Given the description of an element on the screen output the (x, y) to click on. 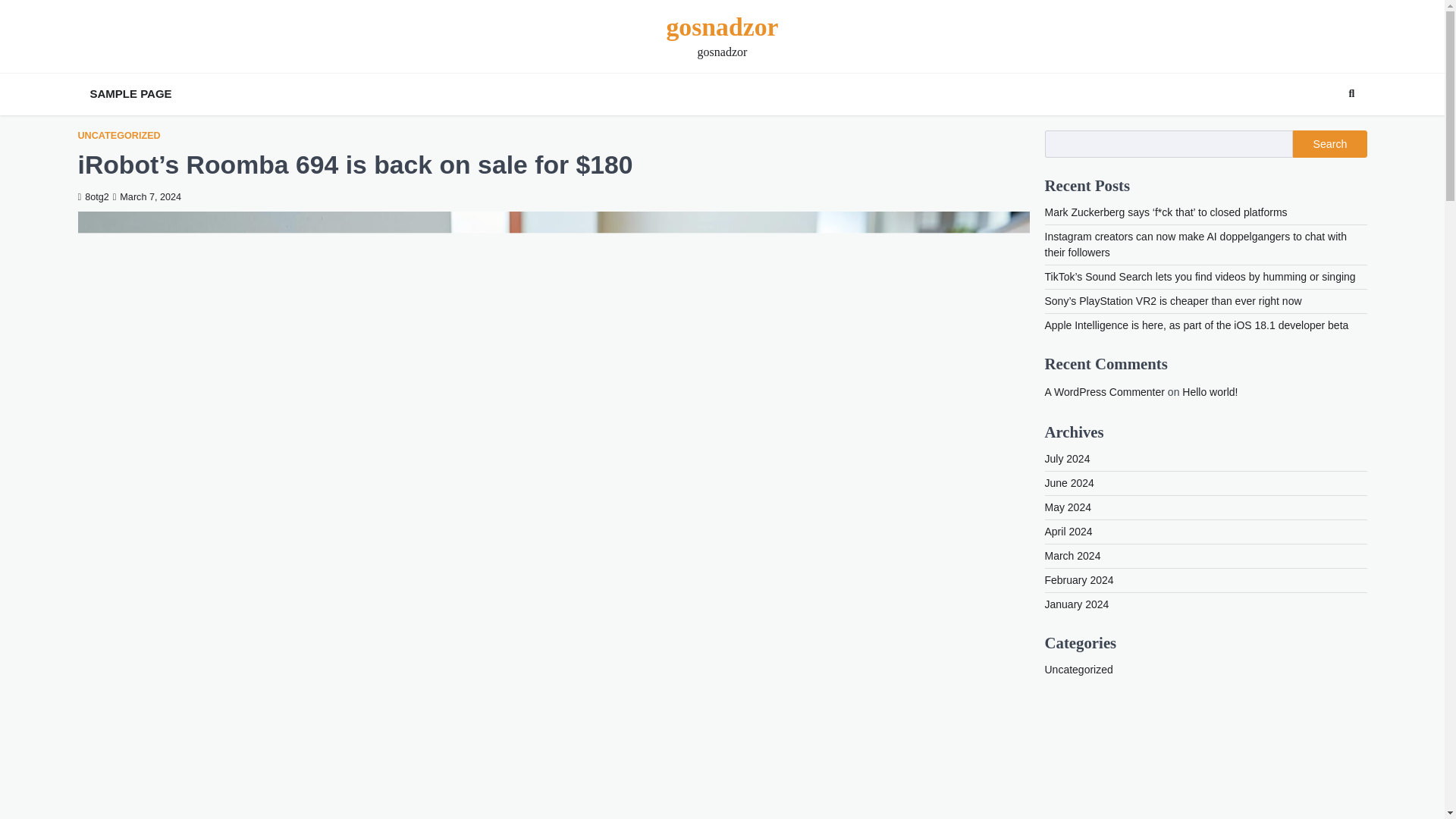
A WordPress Commenter (1104, 391)
Search (1323, 129)
March 7, 2024 (146, 196)
June 2024 (1069, 482)
Search (1351, 93)
gosnadzor (721, 26)
SAMPLE PAGE (129, 94)
July 2024 (1067, 458)
8otg2 (92, 196)
May 2024 (1067, 507)
February 2024 (1079, 580)
Hello world! (1209, 391)
UNCATEGORIZED (118, 135)
